Given the description of an element on the screen output the (x, y) to click on. 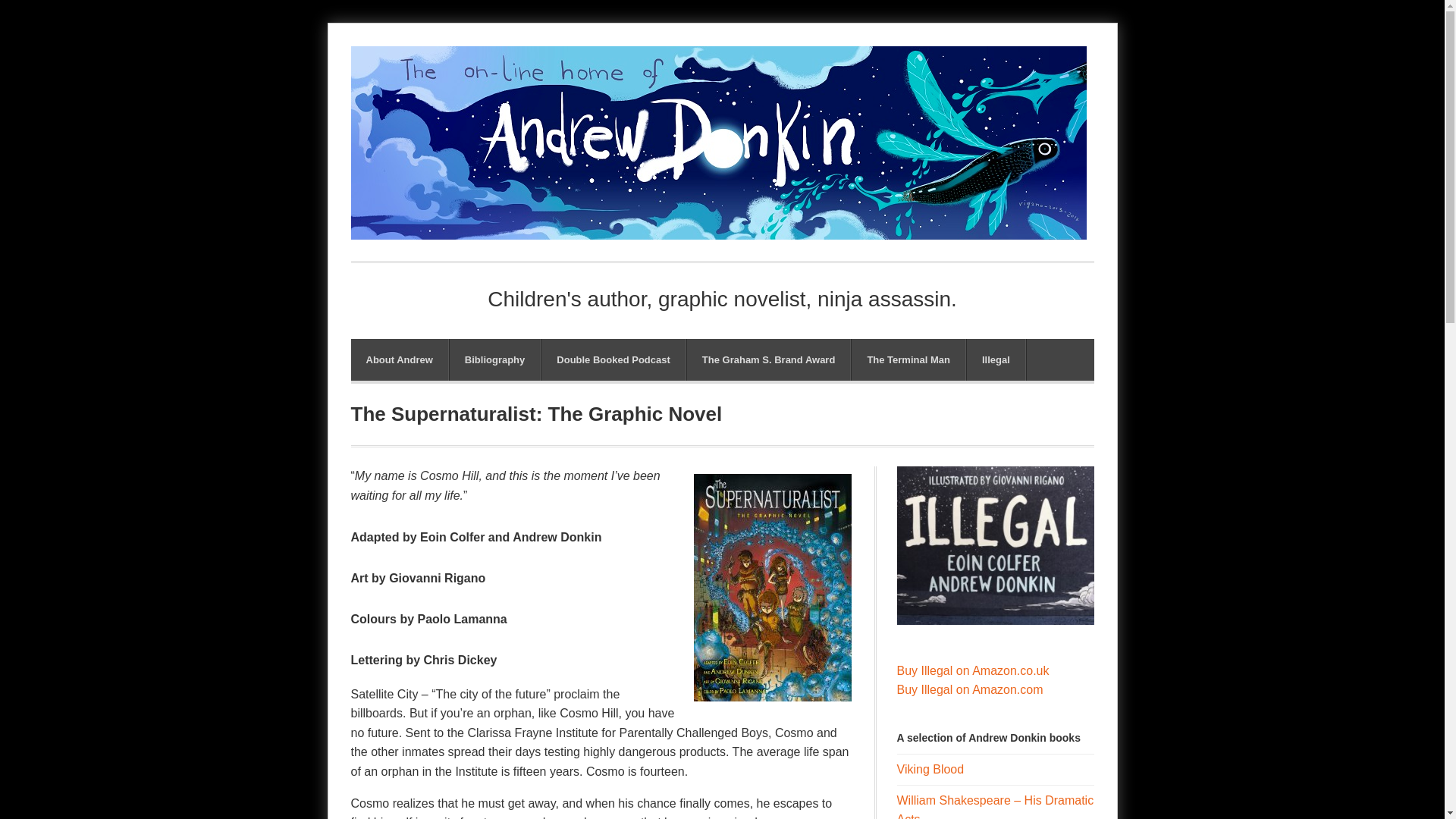
Illegal (995, 359)
Buy Illegal on Amazon.co.uk (972, 670)
The Terminal Man (908, 359)
About Andrew (398, 359)
Double Booked Podcast (613, 359)
The Graham S. Brand Award (768, 359)
Bibliography (494, 359)
Buy Illegal on Amazon.com (969, 689)
Viking Blood (929, 768)
The on-line home of Andrew Donkin (718, 229)
